Given the description of an element on the screen output the (x, y) to click on. 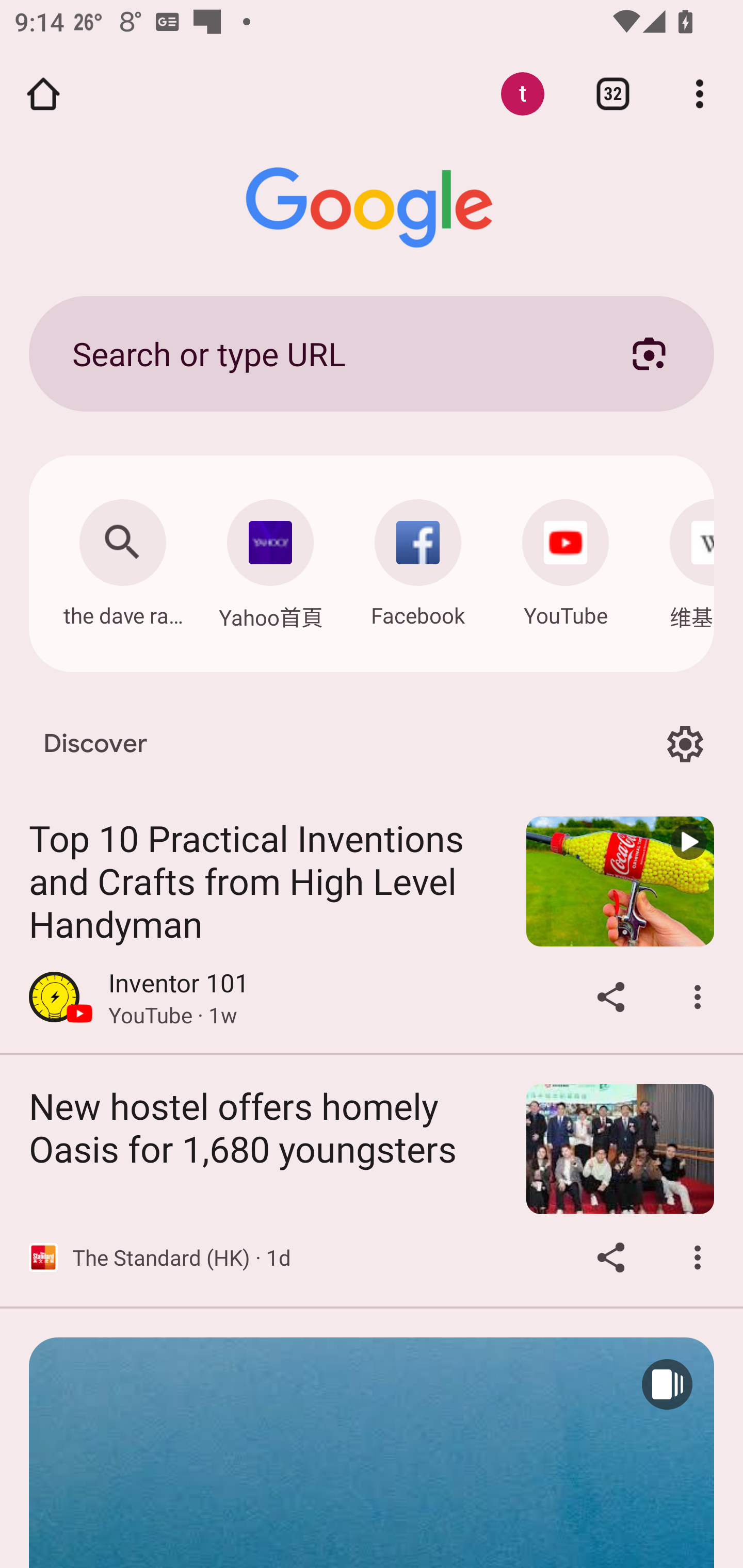
Open the home page (43, 93)
Switch or close tabs (612, 93)
Customize and control Google Chrome (699, 93)
Search or type URL (327, 353)
Search with your camera using Google Lens (648, 353)
Search: the dave ramsey show the dave ramsey show (122, 558)
Navigate: Yahoo首頁: hk.mobi.yahoo.com Yahoo首頁 (270, 558)
Navigate: Facebook: m.facebook.com Facebook (417, 558)
Navigate: YouTube: m.youtube.com YouTube (565, 558)
Options for Discover (684, 743)
